Given the description of an element on the screen output the (x, y) to click on. 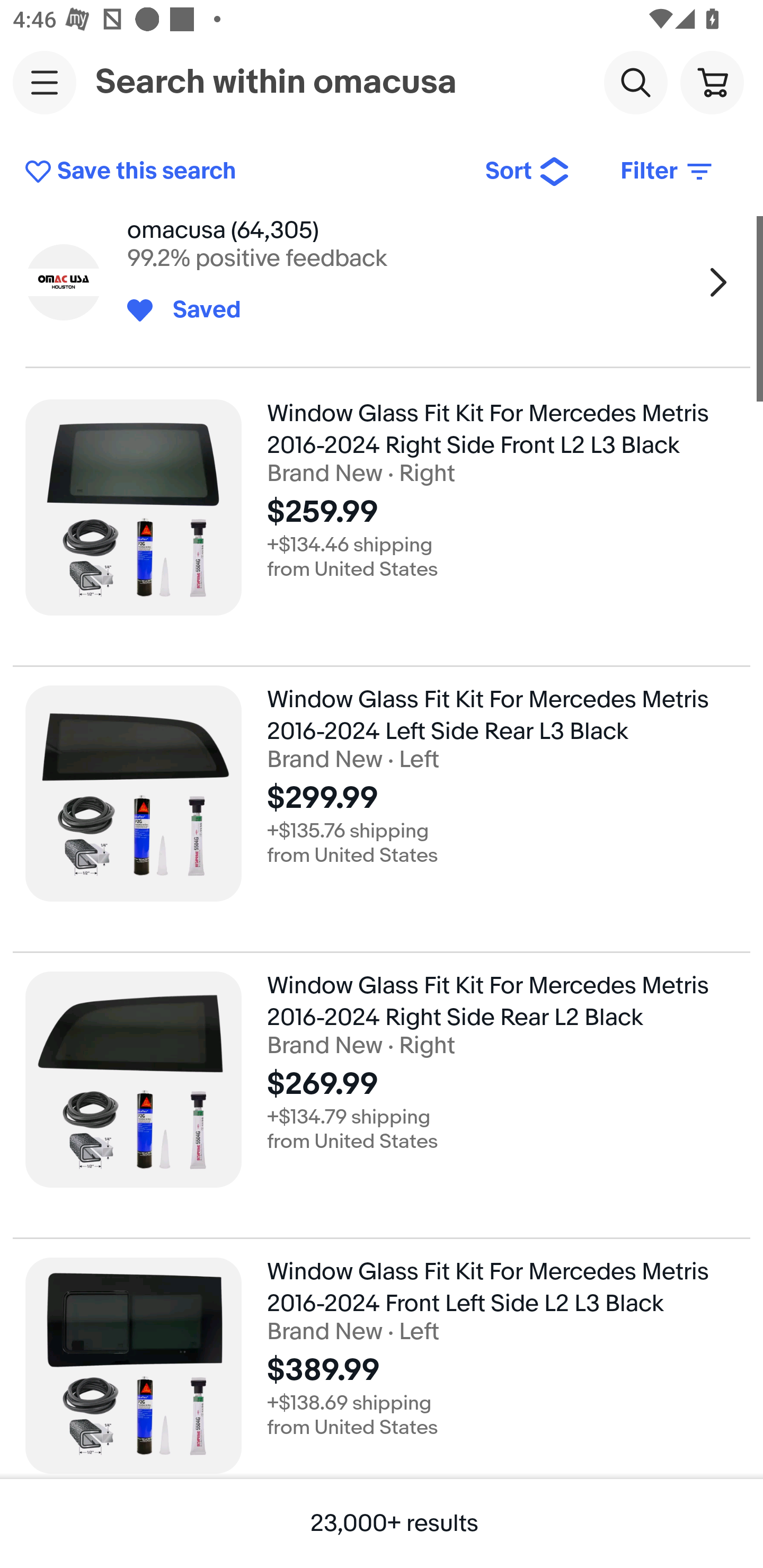
Main navigation, open (44, 82)
Search (635, 81)
Cart button shopping cart (711, 81)
Save this search (241, 171)
Sort (527, 171)
Filter (667, 171)
omacusa (64,305) 99.2% positive feedback Saved (381, 282)
Saved (197, 310)
